Given the description of an element on the screen output the (x, y) to click on. 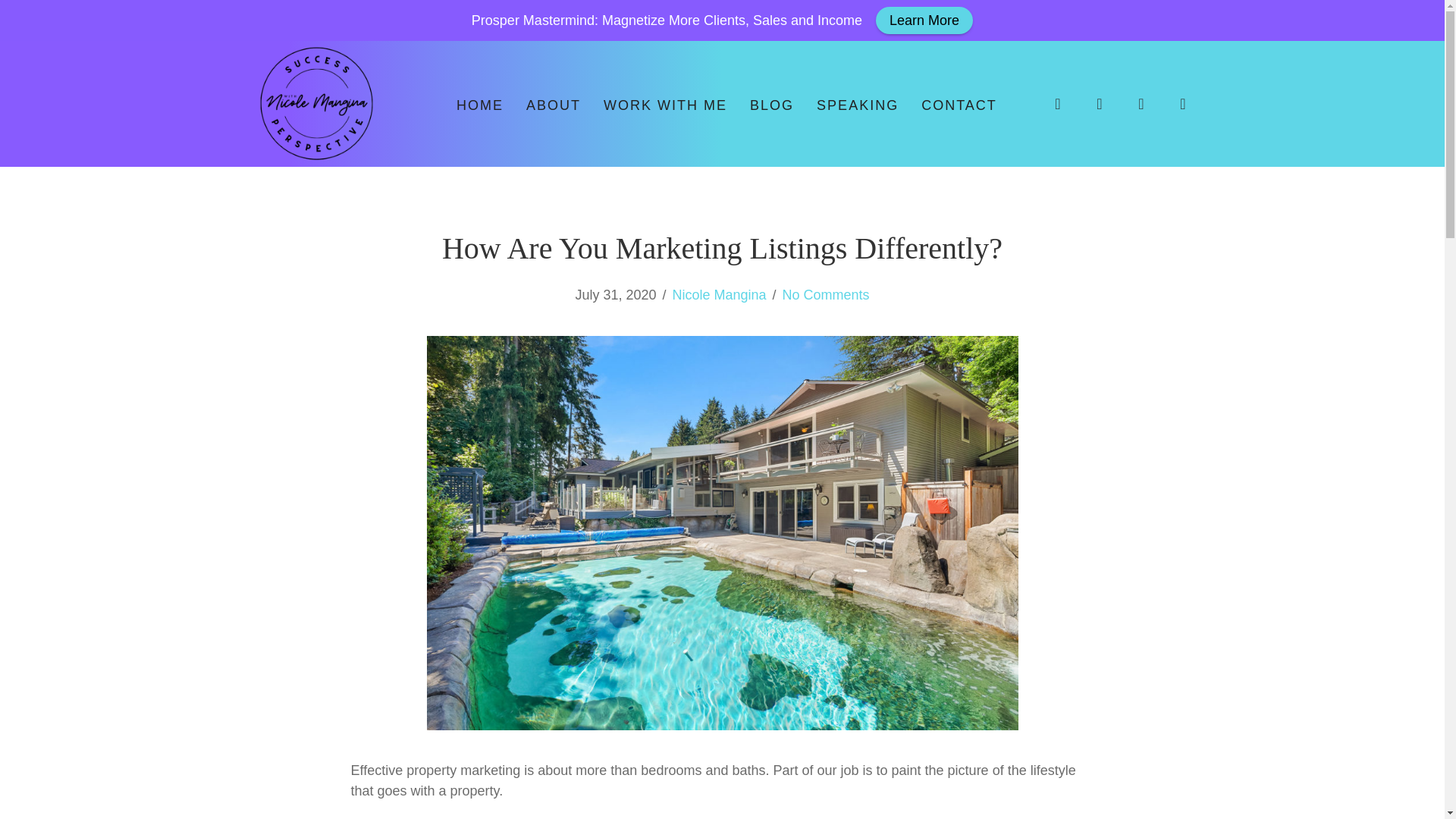
Nicole Mangina (718, 294)
SPEAKING (857, 104)
No Comments (826, 294)
BLOG (772, 104)
WORK WITH ME (665, 104)
Facebook (1099, 103)
Learn More (924, 20)
LinkedIn (1141, 103)
YouTube (1182, 103)
CONTACT (959, 104)
